Given the description of an element on the screen output the (x, y) to click on. 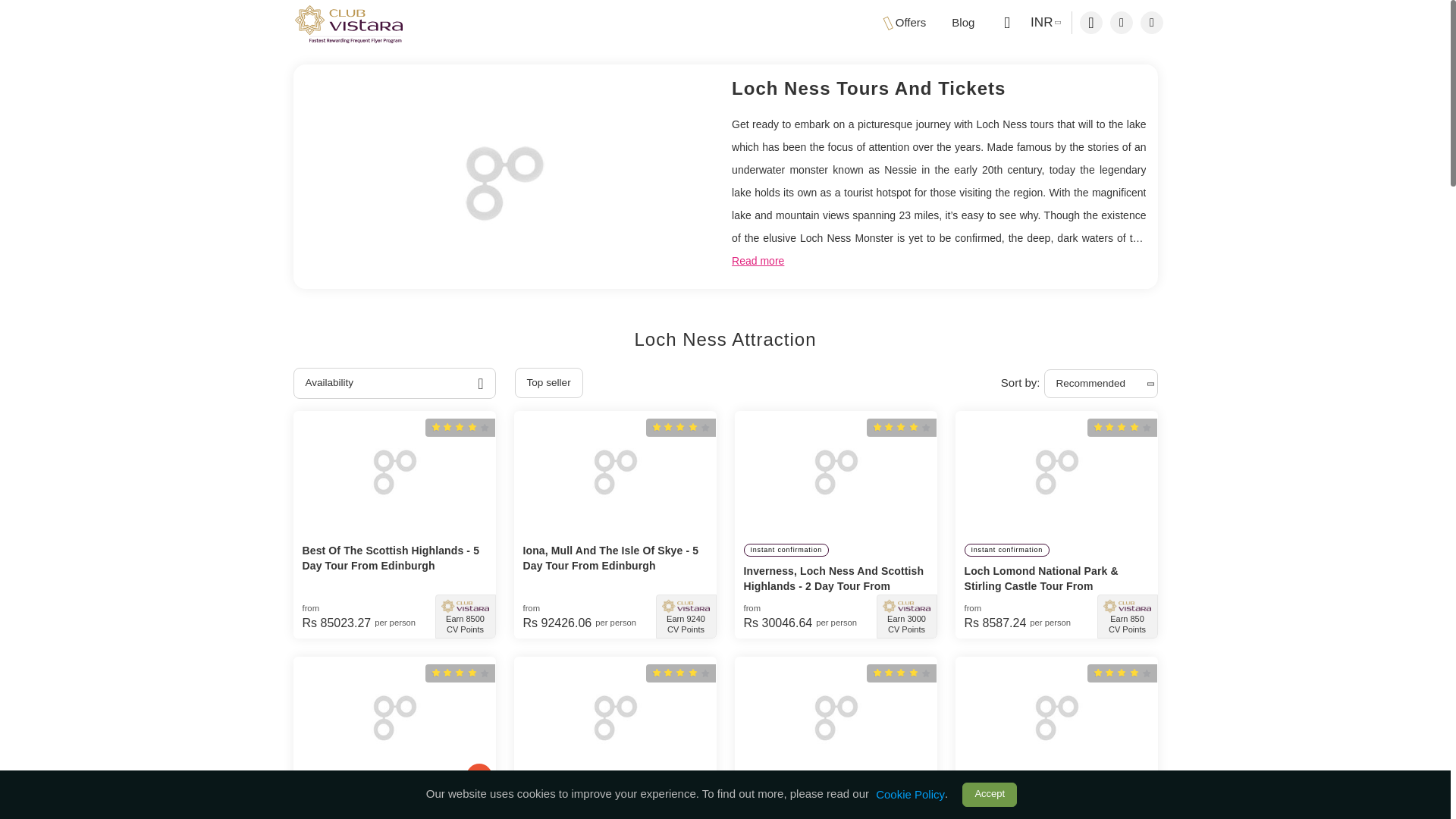
Recommended (1100, 383)
Iona, Mull and the Isle of Skye - 5 Day Tour from Edinburgh (614, 471)
Best Of The Scottish Highlands - 5 Day Tour From Edinburgh (393, 558)
Availability (393, 382)
West Highland Lochs and Castles - Tour from Edinburgh (614, 717)
INR (1043, 22)
Offers (905, 22)
Read more (758, 260)
Best of the Scottish Highlands - 5 Day Tour from Edinburgh (393, 471)
Loch Ness, Glencoe and the Highlands Day Tour from Edinburgh (393, 717)
